Given the description of an element on the screen output the (x, y) to click on. 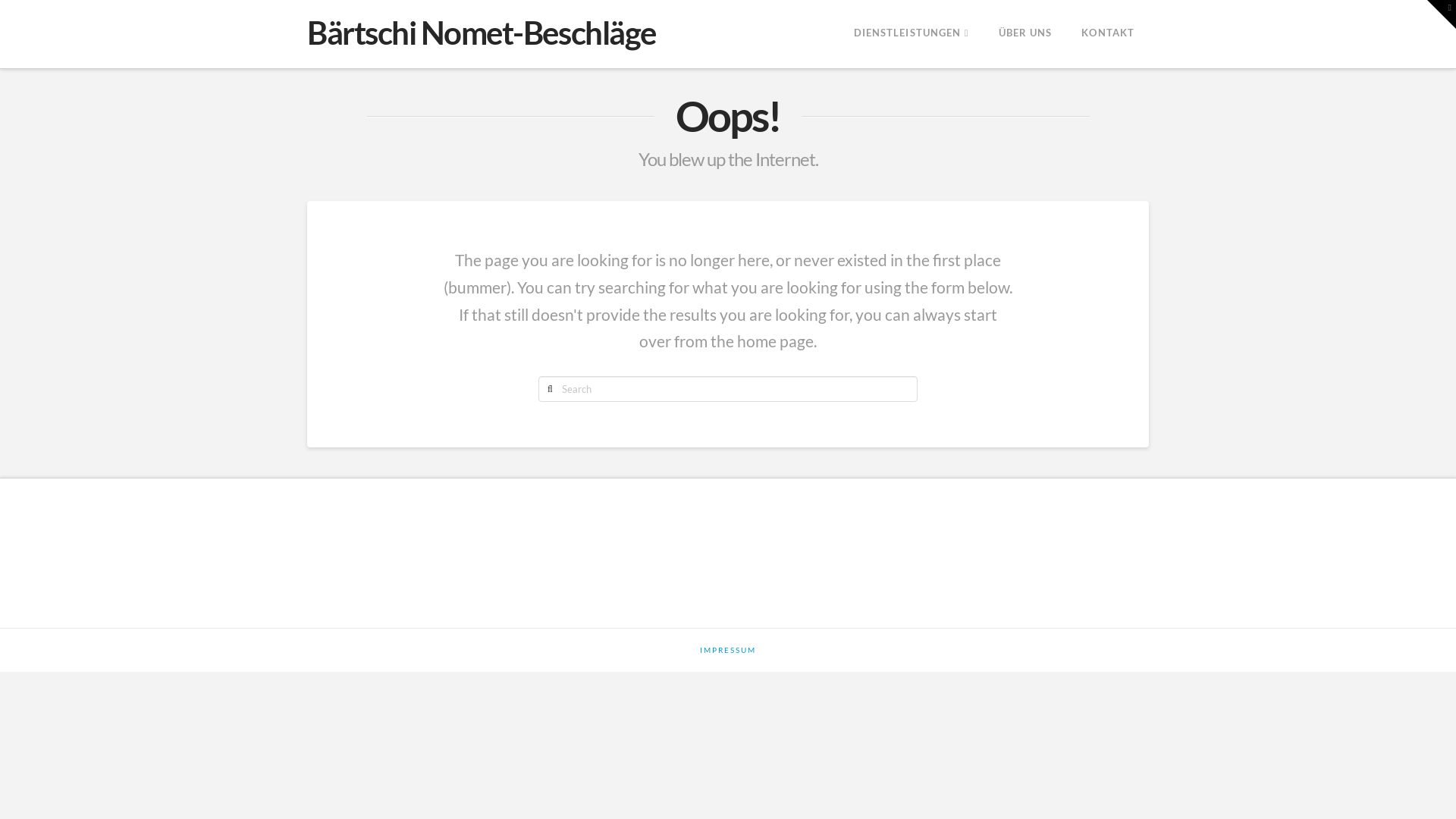
IMPRESSUM Element type: text (727, 649)
DIENSTLEISTUNGEN Element type: text (910, 34)
KONTAKT Element type: text (1107, 34)
